Given the description of an element on the screen output the (x, y) to click on. 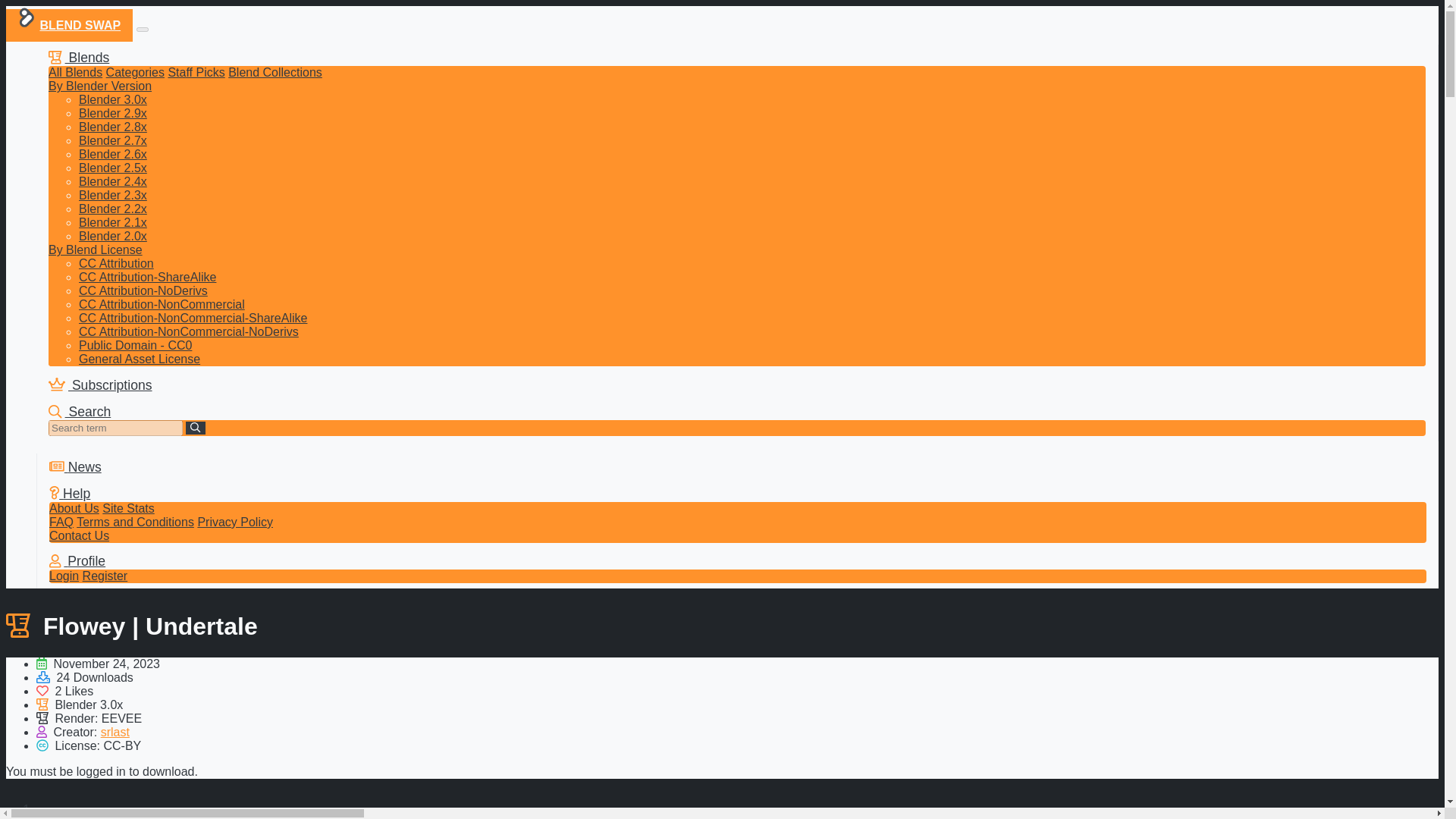
CC Attribution-NonCommercial (161, 304)
About Us (74, 508)
News (75, 467)
CC Attribution-NoDerivs (143, 290)
Help (69, 493)
Blender 2.5x (112, 167)
General Asset License (139, 358)
FAQ (61, 521)
Blender 2.4x (112, 181)
Blender 2.7x (112, 140)
Blender 2.2x (112, 208)
Blender 2.8x (112, 126)
CC Attribution-NonCommercial-ShareAlike (192, 318)
Terms and Conditions (135, 521)
Blender 2.1x (112, 222)
